Given the description of an element on the screen output the (x, y) to click on. 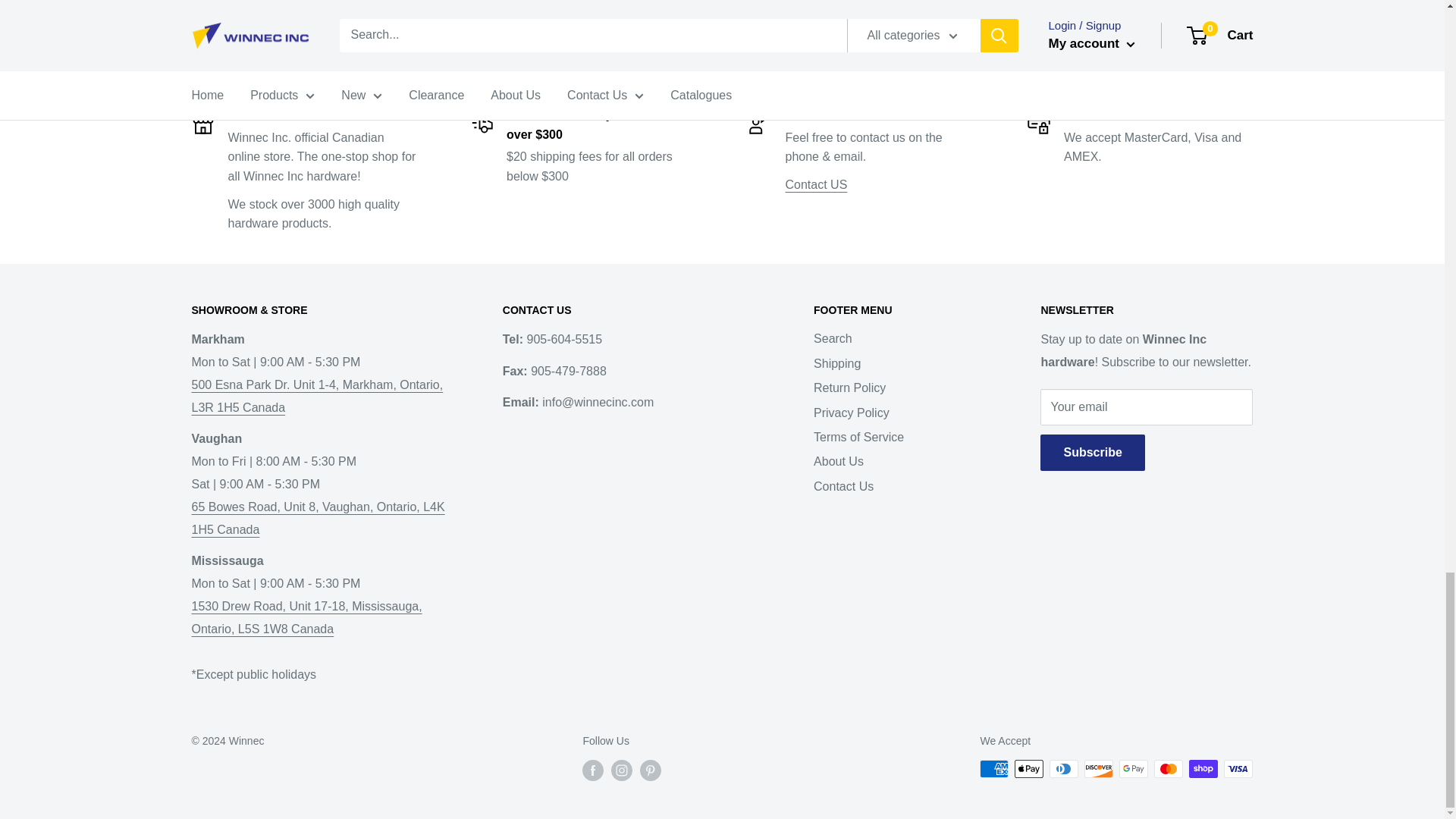
Winnec Mississauga (306, 639)
Contact Us (816, 184)
Winnec Vaughan (317, 529)
Winnec Markham (316, 396)
